Given the description of an element on the screen output the (x, y) to click on. 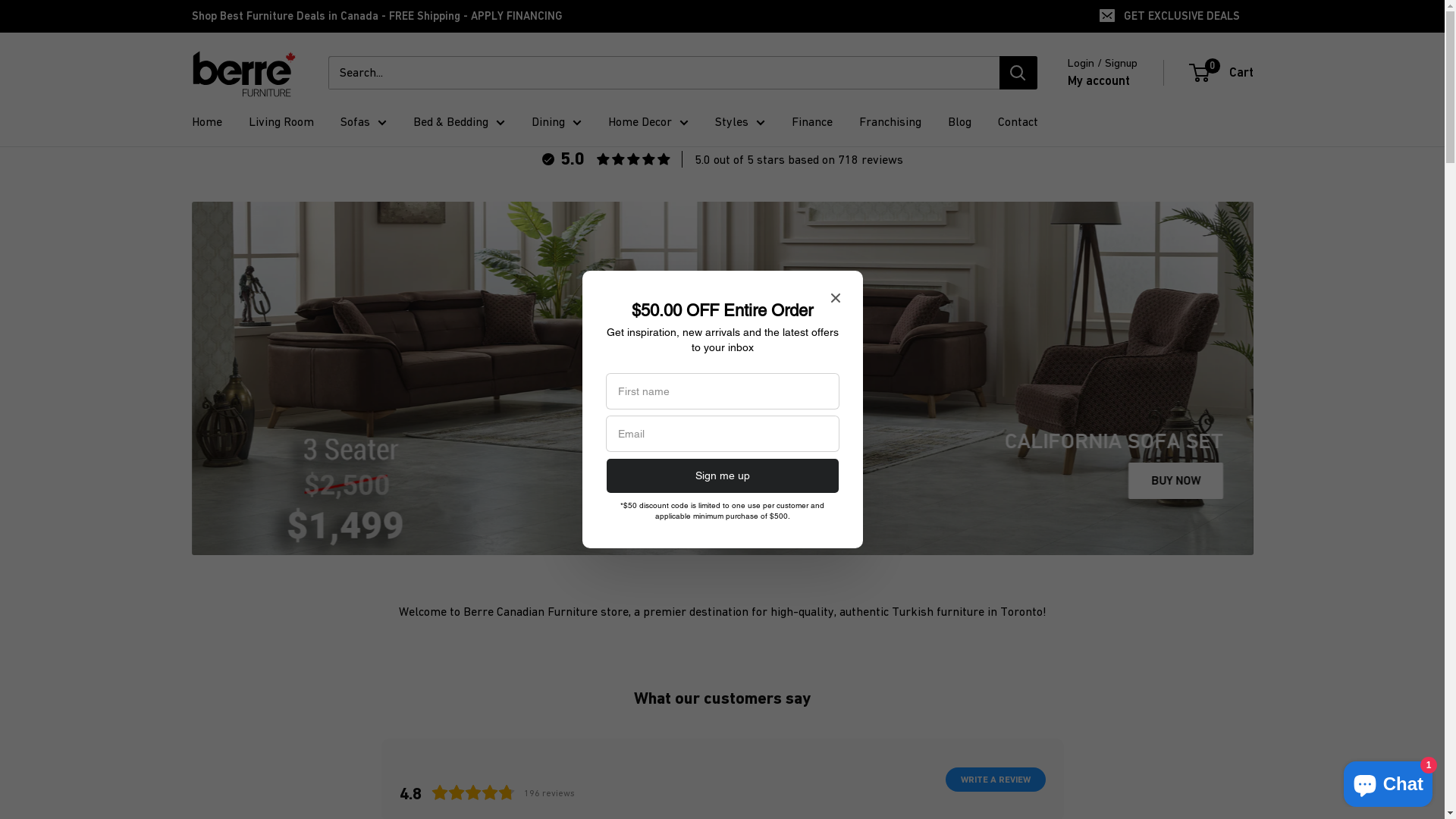
Contact Element type: text (1017, 121)
Home Decor Element type: text (648, 121)
BUY NOW Element type: text (1175, 480)
Shopify online store chat Element type: hover (1388, 780)
Franchising Element type: text (889, 121)
Blog Element type: text (959, 121)
Bed & Bedding Element type: text (458, 121)
Sofas Element type: text (362, 121)
GET EXCLUSIVE DEALS Element type: text (1169, 15)
5.0
5.0 out of 5 stars based on 718 reviews Element type: text (721, 159)
Finance Element type: text (811, 121)
Home Element type: text (206, 121)
Dining Element type: text (555, 121)
Living Room Element type: text (280, 121)
0
Cart Element type: text (1221, 72)
Berre Furniture Element type: text (244, 72)
My account Element type: text (1098, 81)
Styles Element type: text (739, 121)
